Given the description of an element on the screen output the (x, y) to click on. 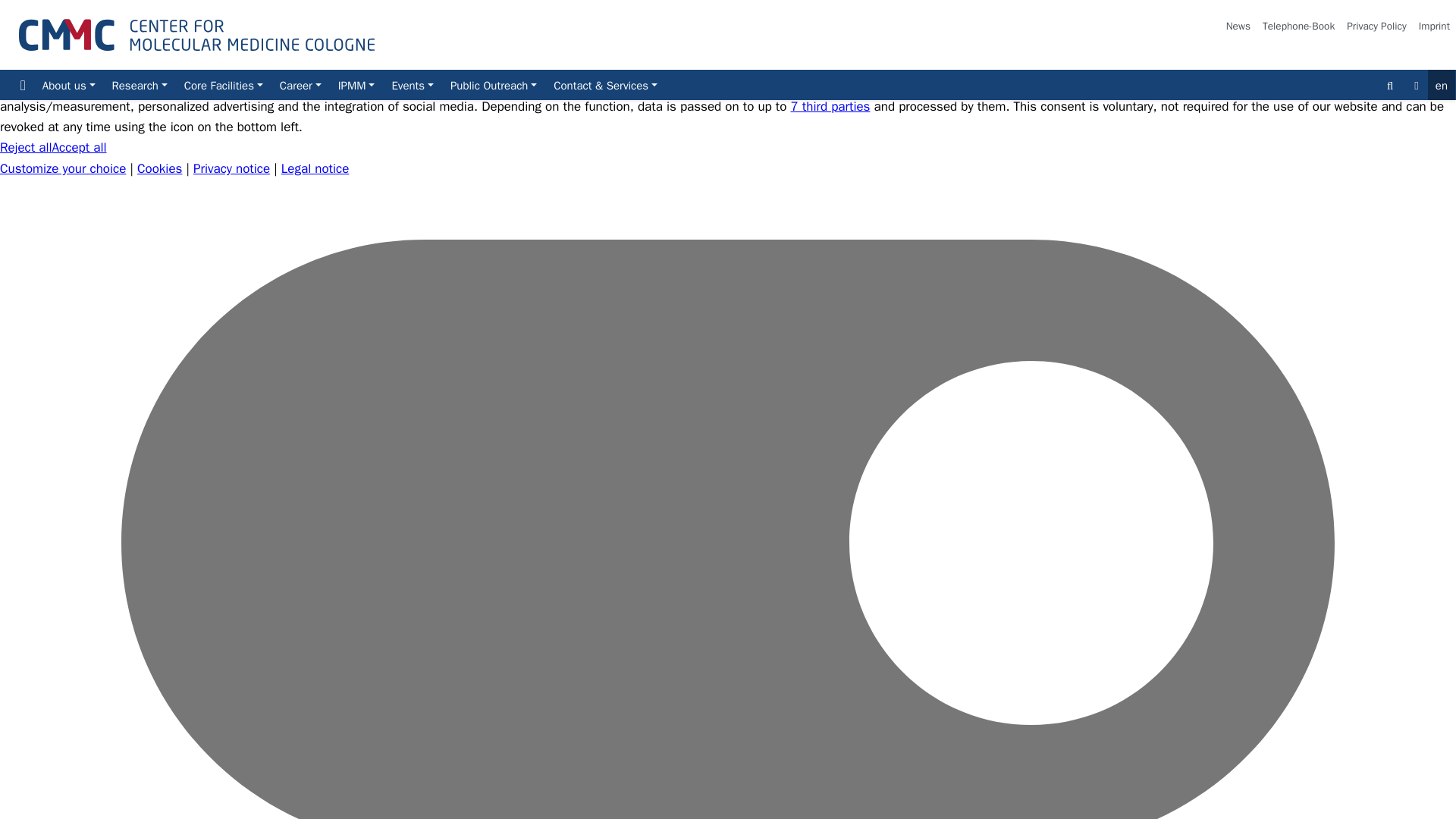
Telephone-Book (1298, 26)
About us (68, 84)
Research (138, 84)
About us (68, 84)
Telephone-Book (1298, 26)
Privacy Policy (1376, 26)
Career (300, 84)
Core Facilities (223, 84)
Research (138, 84)
News (1238, 26)
